Given the description of an element on the screen output the (x, y) to click on. 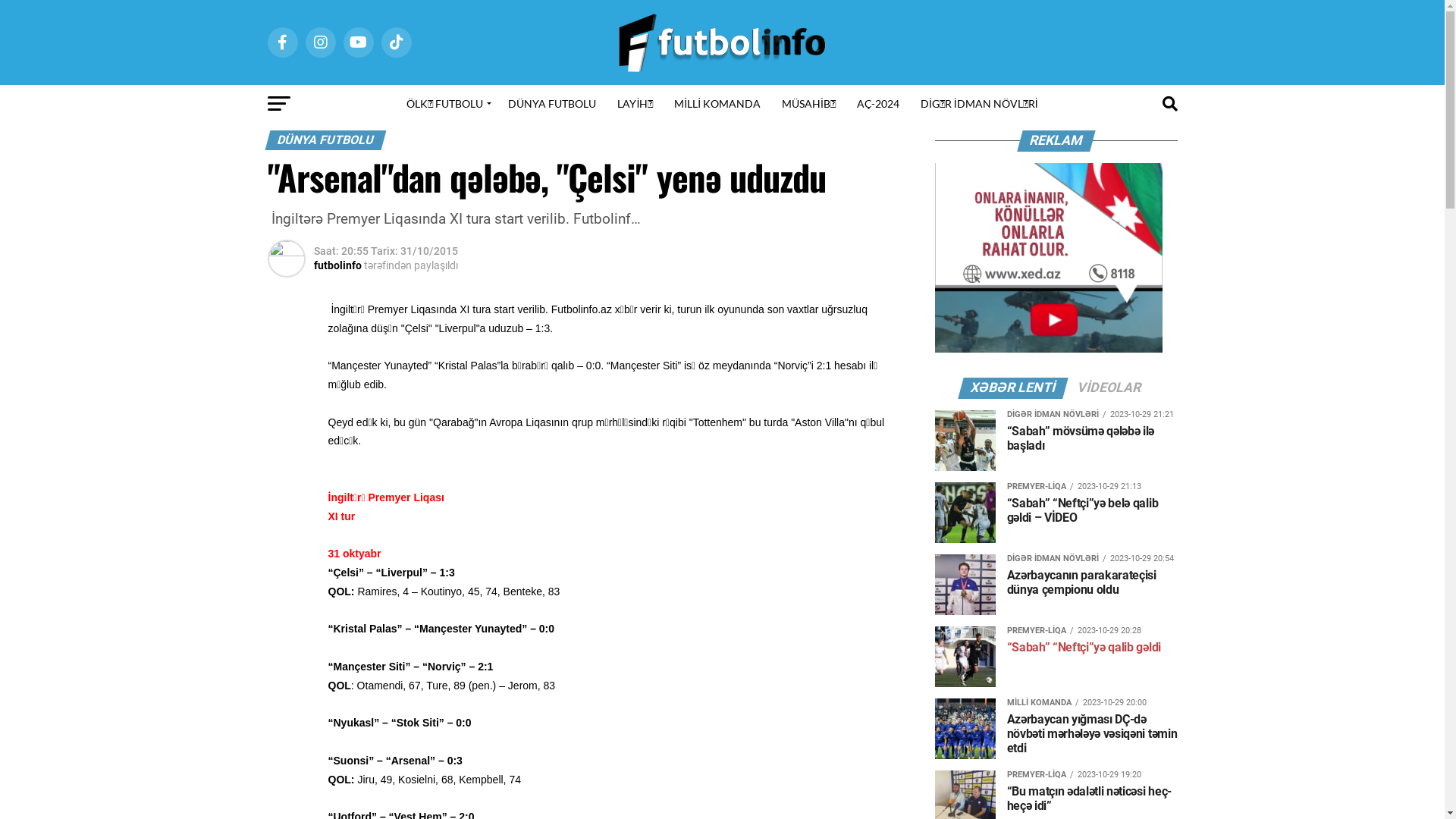
VIDEOLAR Element type: text (1109, 388)
MILLI KOMANDA Element type: text (717, 103)
futbolinfo Element type: text (337, 265)
